Given the description of an element on the screen output the (x, y) to click on. 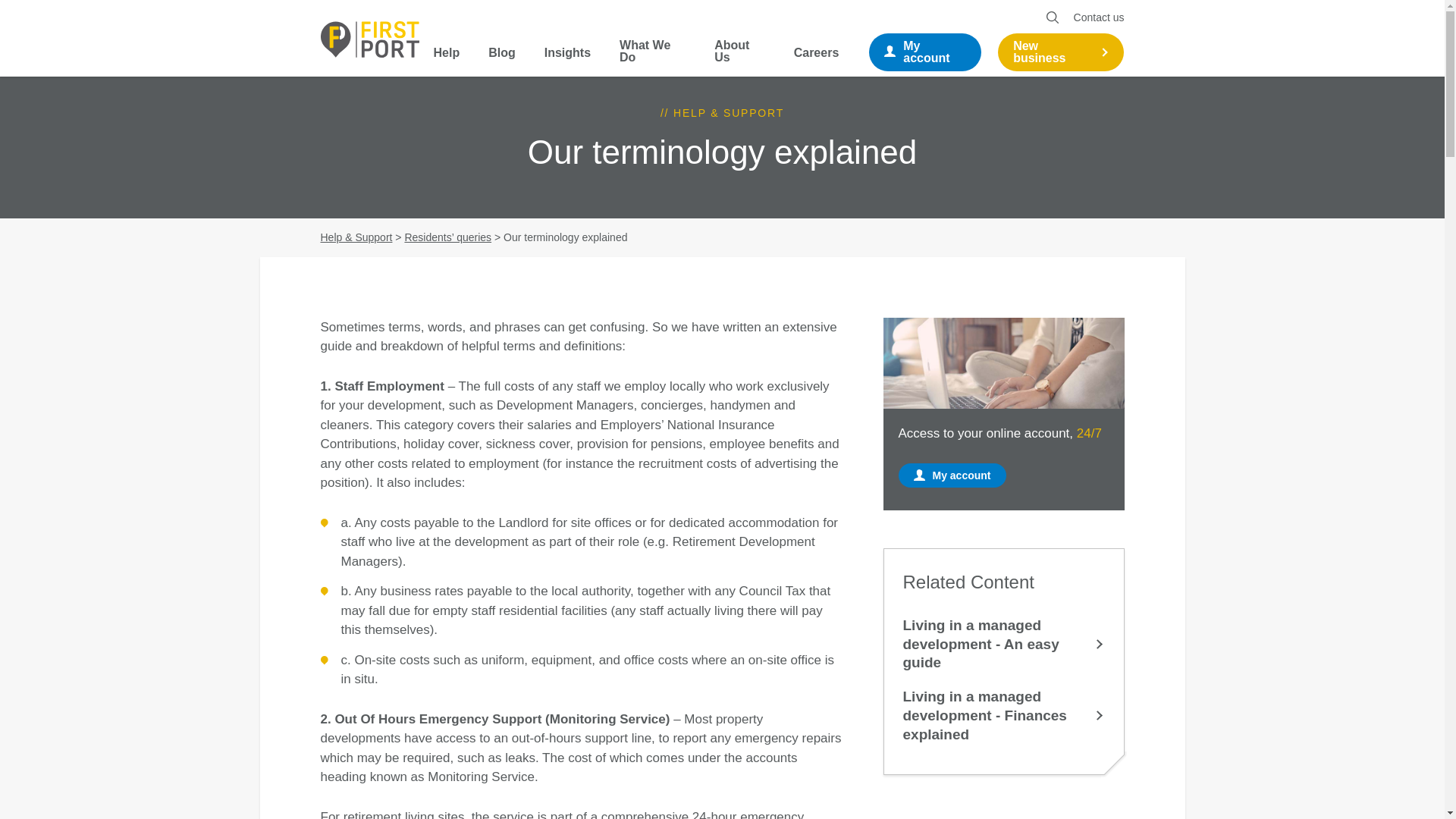
Blog (501, 59)
Insights (567, 59)
Help (446, 59)
Contact us (1099, 17)
My account (925, 52)
Careers (816, 59)
About Us (739, 57)
What We Do (652, 57)
